Given the description of an element on the screen output the (x, y) to click on. 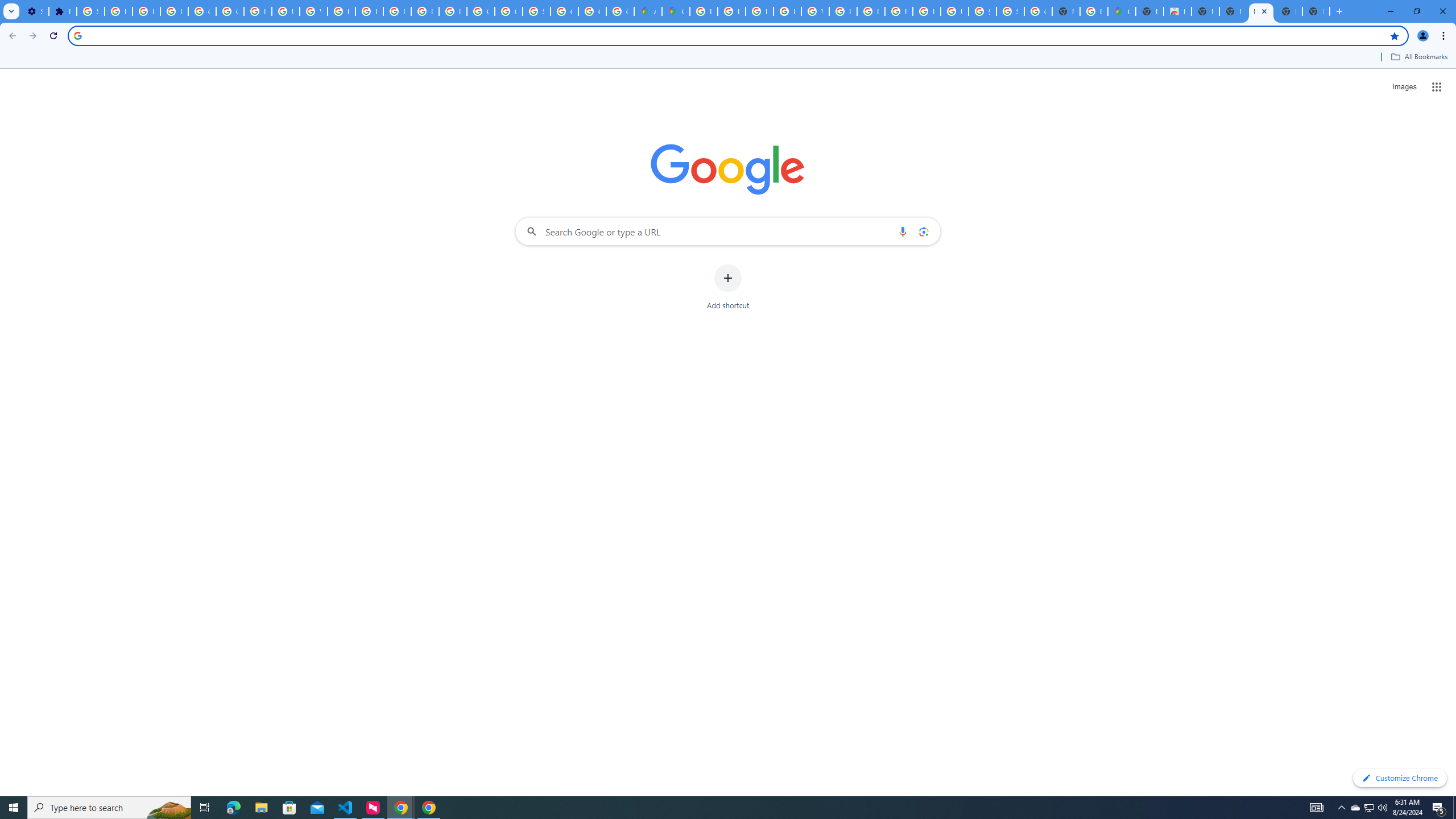
New Tab (1150, 11)
Sign in - Google Accounts (536, 11)
